Given the description of an element on the screen output the (x, y) to click on. 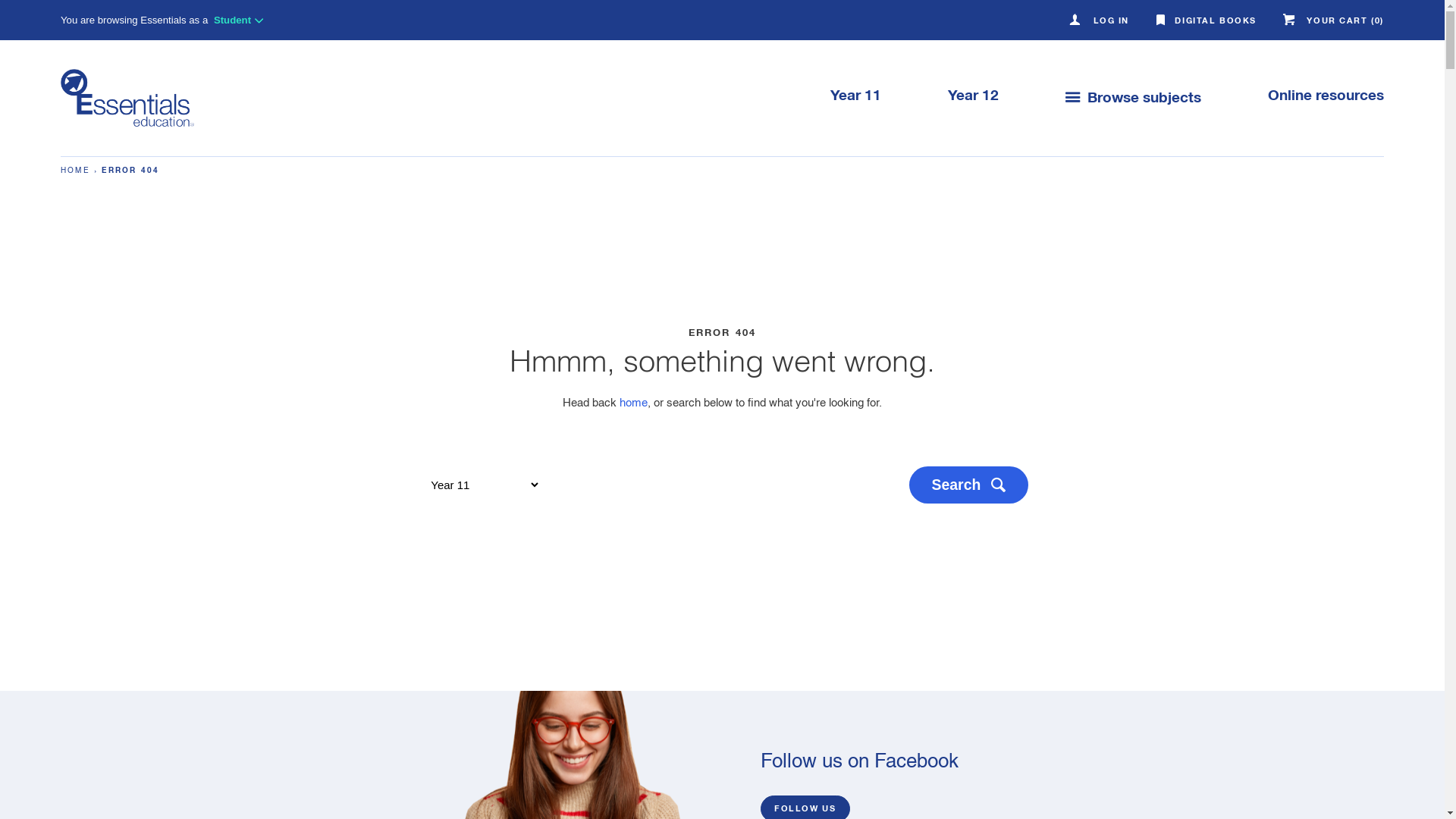
Year 11 Element type: text (855, 112)
You are browsing Essentials as a Student Element type: text (161, 19)
Online resources Element type: text (1308, 112)
LOG IN Element type: text (1100, 21)
home Element type: text (633, 403)
HOME Element type: text (75, 170)
YOUR CART (0) Element type: text (1333, 21)
Browse subjects Element type: text (1133, 112)
Year 12 Element type: text (973, 112)
DIGITAL BOOKS Element type: text (1206, 21)
Search Element type: text (968, 484)
